Given the description of an element on the screen output the (x, y) to click on. 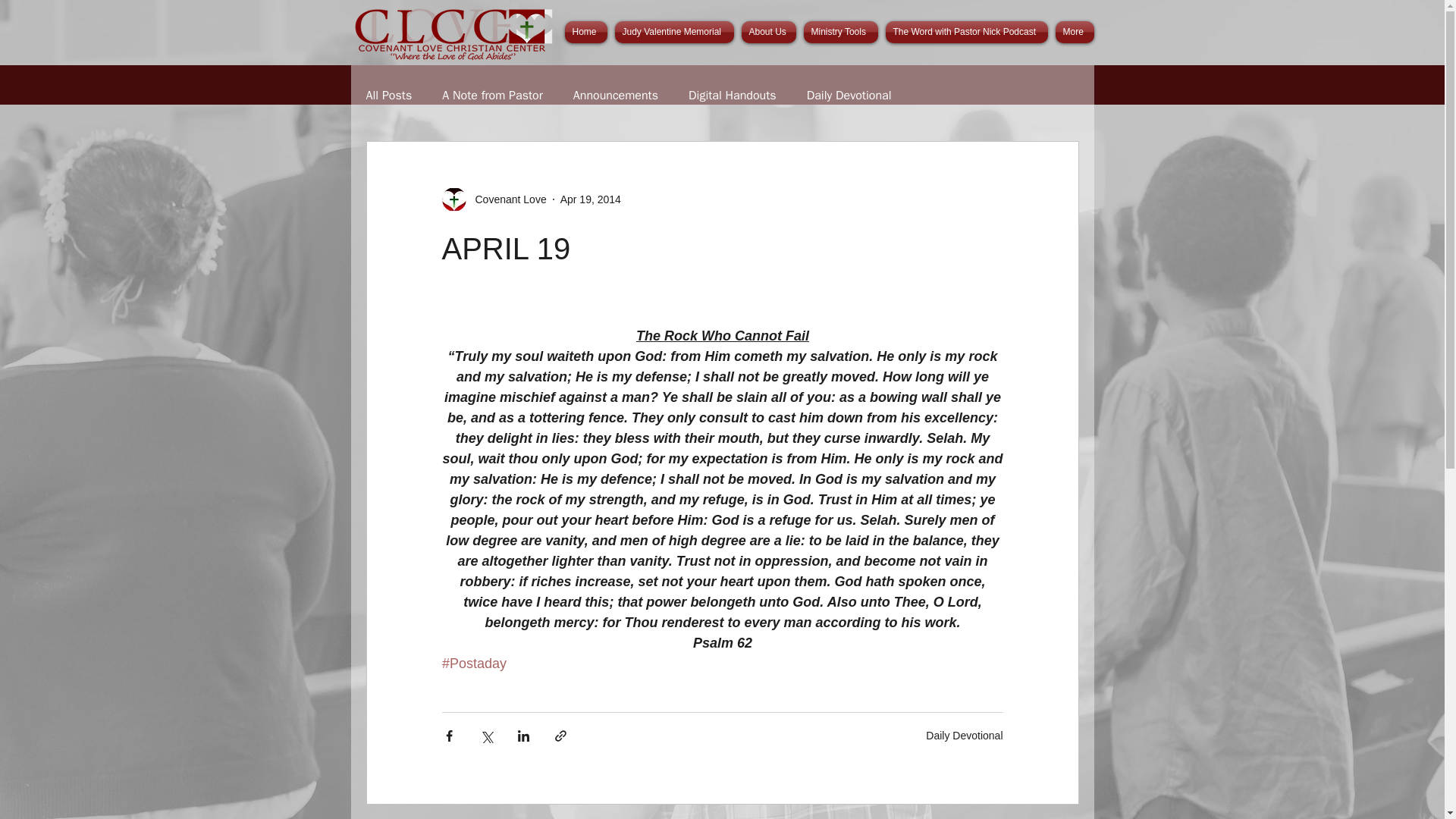
Judy Valentine Memorial (674, 32)
Daily Devotional (848, 95)
Home (587, 32)
Digital Handouts (732, 95)
A Note from Pastor (492, 95)
Announcements (615, 95)
The Word with Pastor Nick Podcast (965, 32)
Covenant Love (505, 198)
Apr 19, 2014 (590, 198)
Covenant Love (493, 199)
All Posts (388, 95)
Daily Devotional (964, 735)
